Given the description of an element on the screen output the (x, y) to click on. 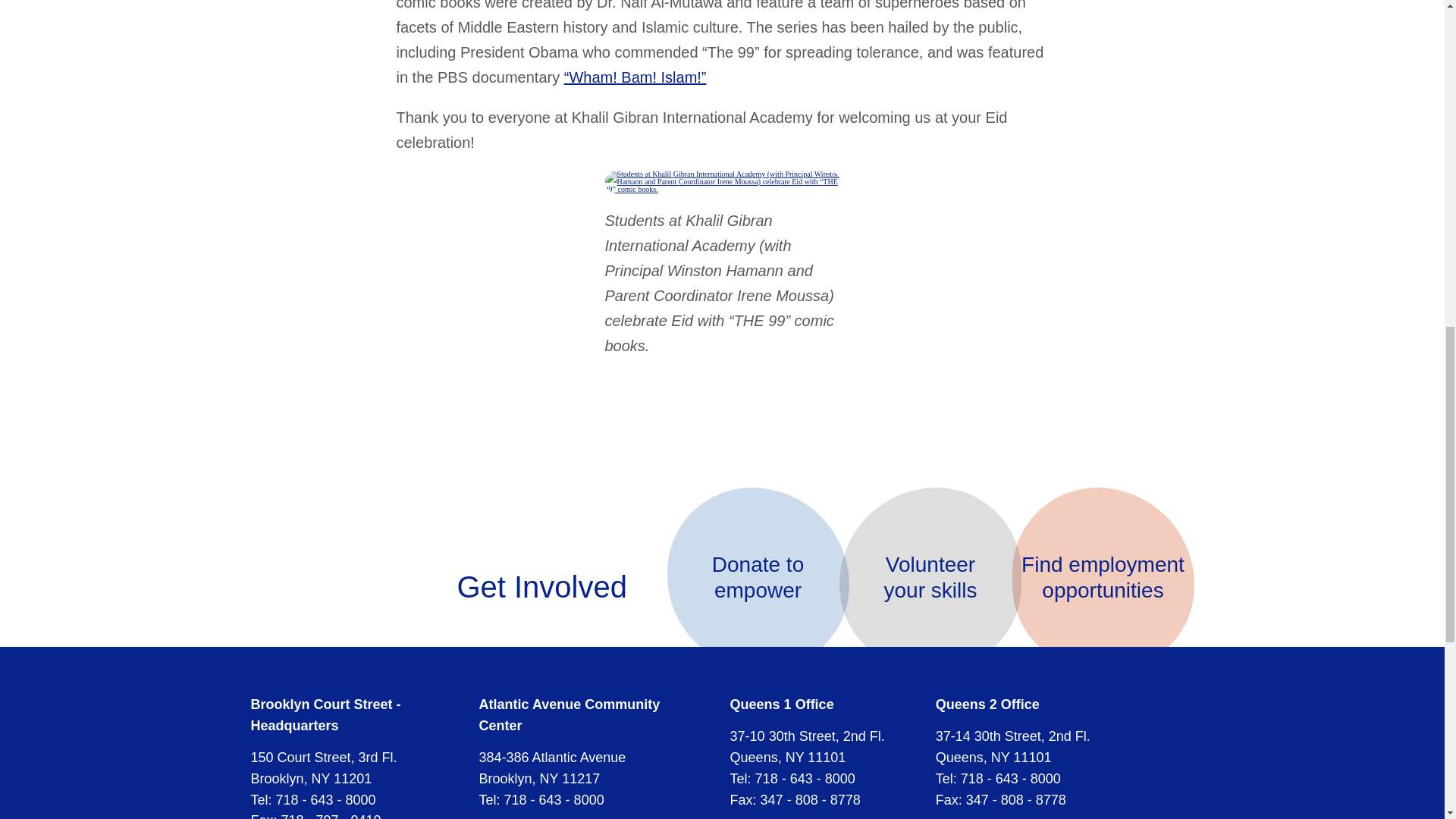
Find employment opportunities (931, 577)
Donate to empower (1102, 577)
